Given the description of an element on the screen output the (x, y) to click on. 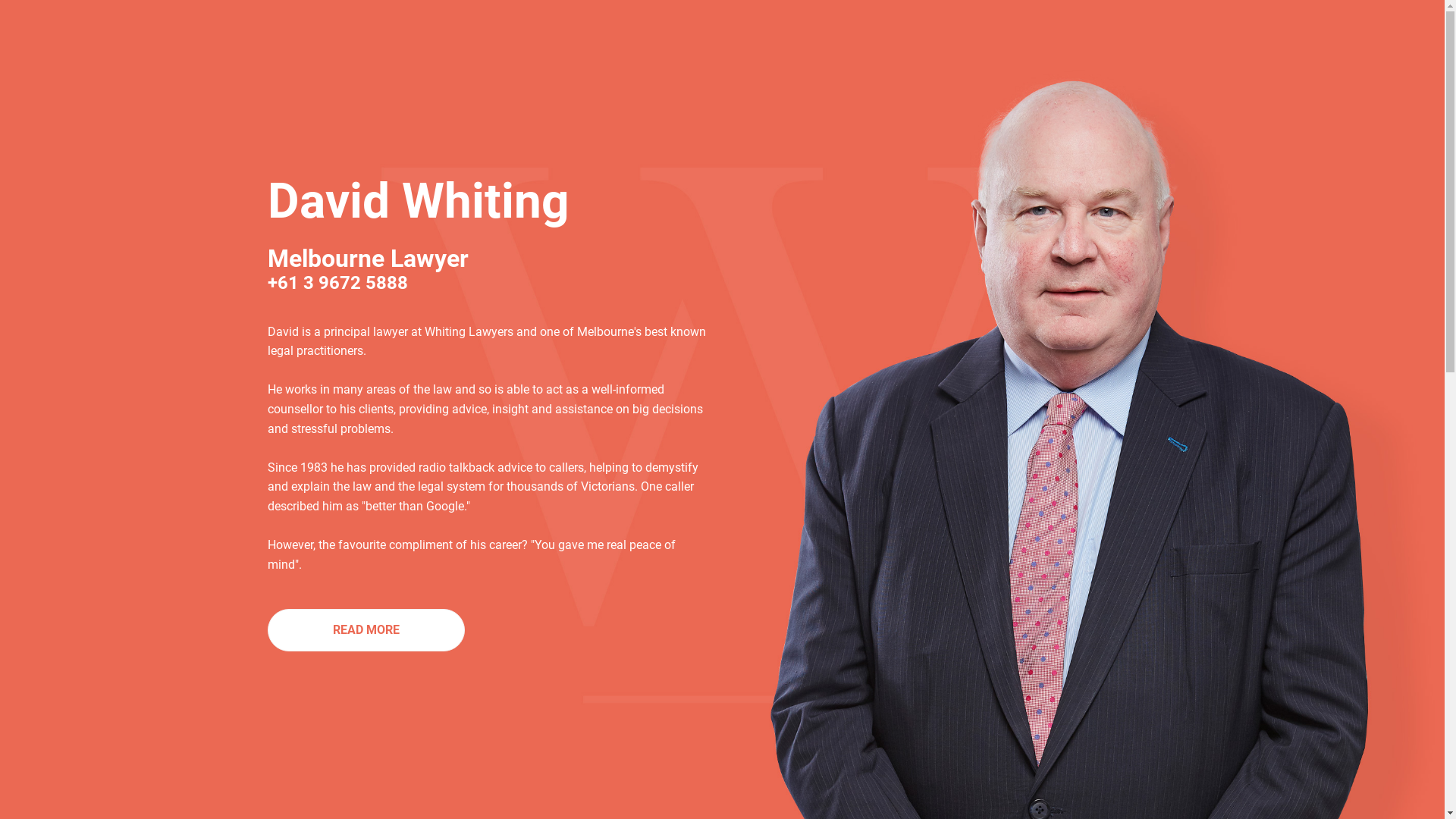
READ MORE Element type: text (365, 629)
